Given the description of an element on the screen output the (x, y) to click on. 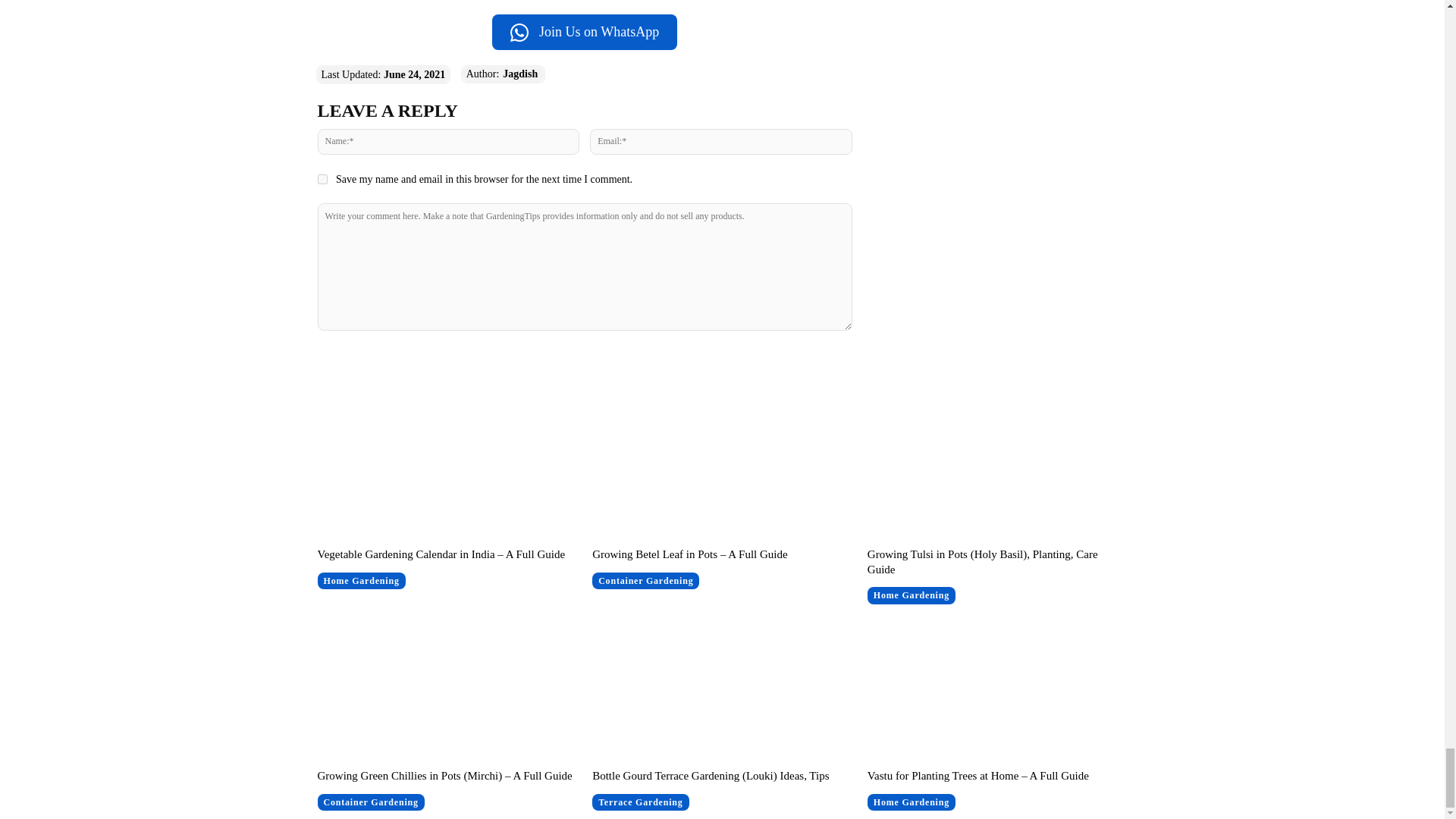
Join Us on WhatsApp (584, 31)
Post Comment (584, 360)
yes (321, 179)
